Given the description of an element on the screen output the (x, y) to click on. 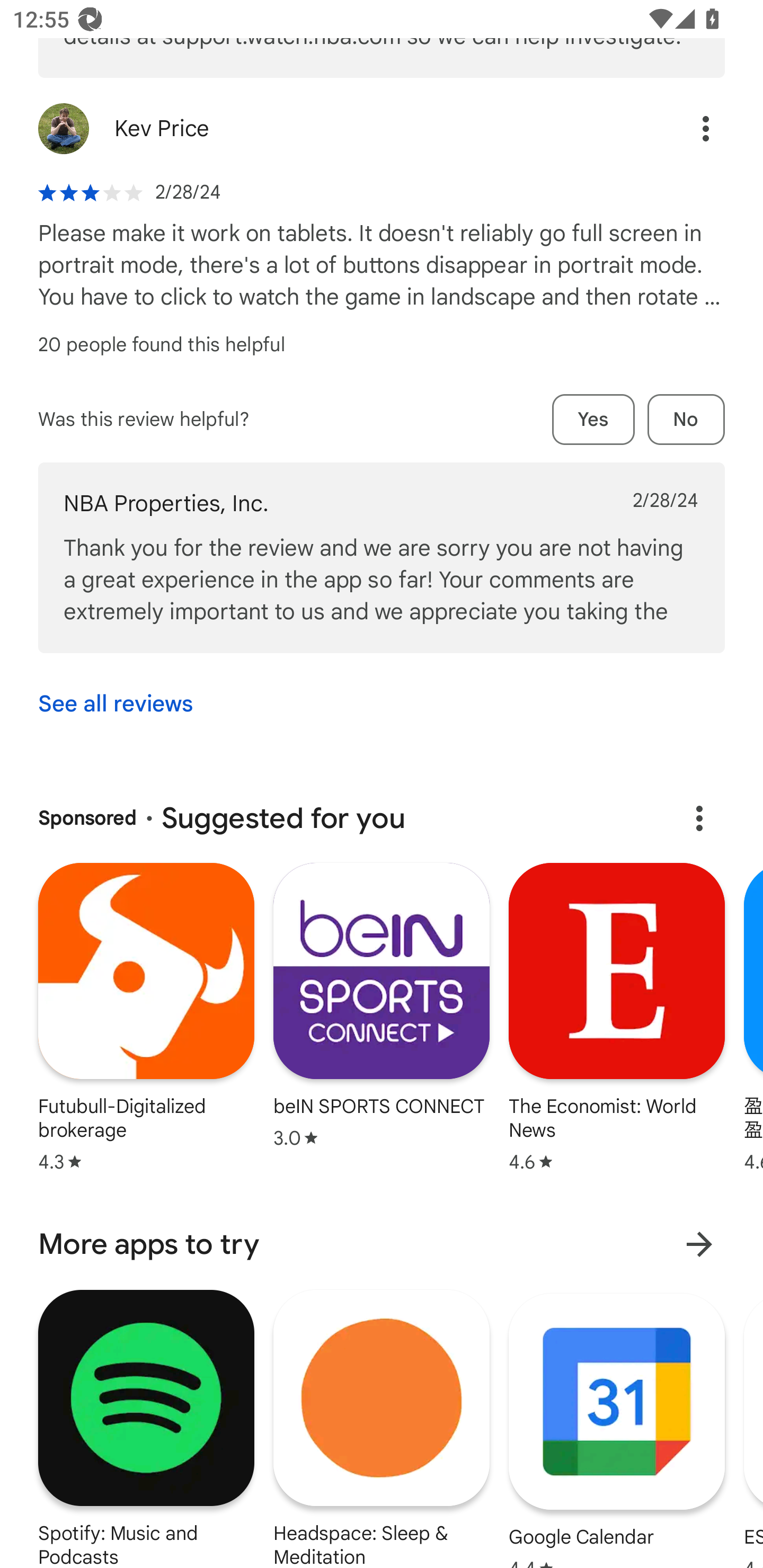
Options (686, 128)
Yes (593, 419)
No (685, 419)
See all reviews (115, 703)
About this ad (699, 818)
Futubull-Digitalized brokerage
Star rating: 4.3
 (146, 1019)
beIN SPORTS CONNECT
Star rating: 3.0
 (381, 1007)
The Economist: World News
Star rating: 4.6
 (616, 1019)
More apps to try More results for More apps to try (381, 1243)
More results for More apps to try (699, 1243)
Spotify: Music and Podcasts
Star rating: 4.3
 (145, 1428)
Headspace: Sleep & Meditation
Star rating: 4.5
 (381, 1428)
Google Calendar
Star rating: 4.4
 (616, 1428)
